Given the description of an element on the screen output the (x, y) to click on. 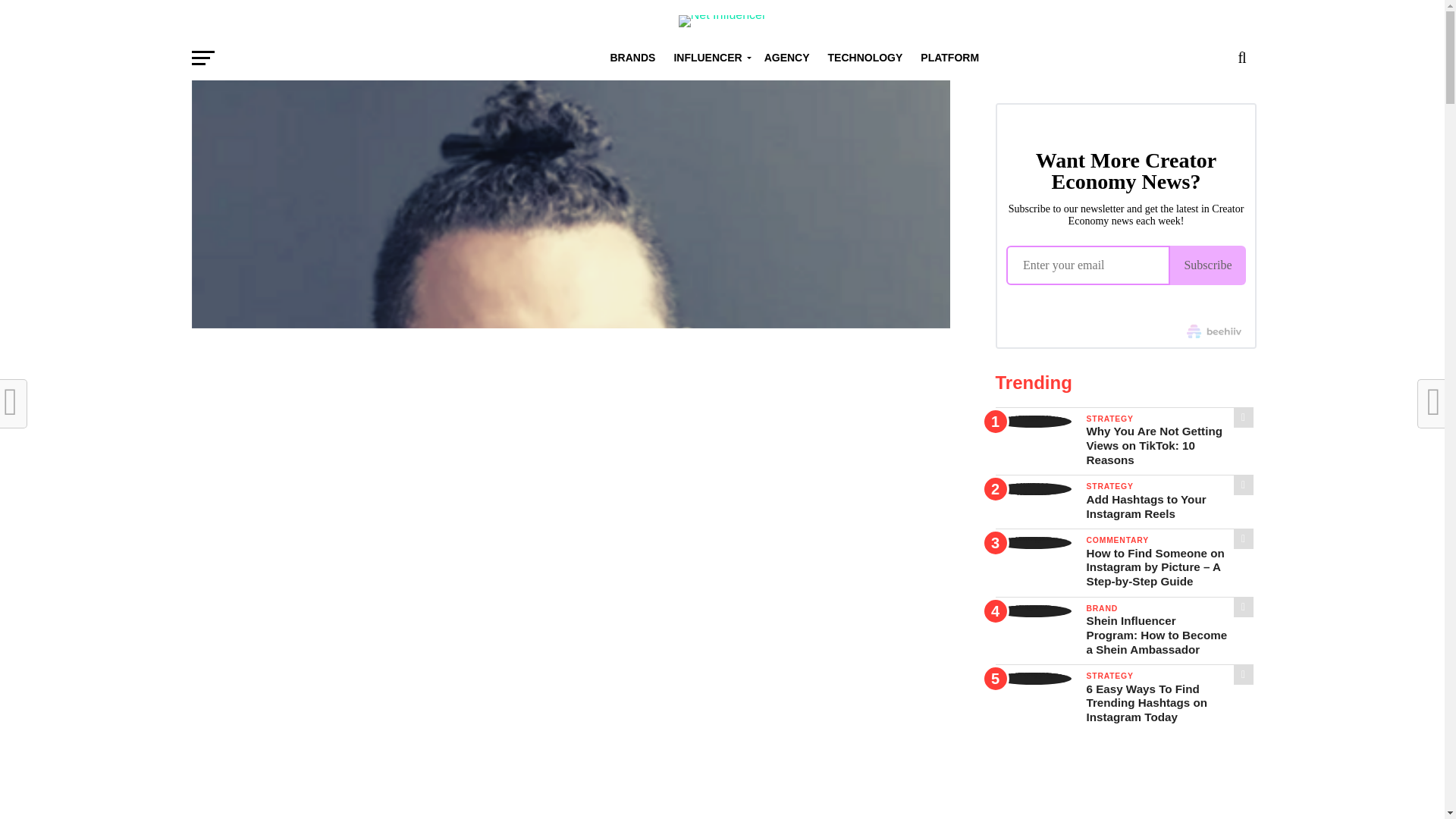
AGENCY (786, 57)
INFLUENCER (708, 57)
BRANDS (631, 57)
PLATFORM (949, 57)
TECHNOLOGY (865, 57)
